Given the description of an element on the screen output the (x, y) to click on. 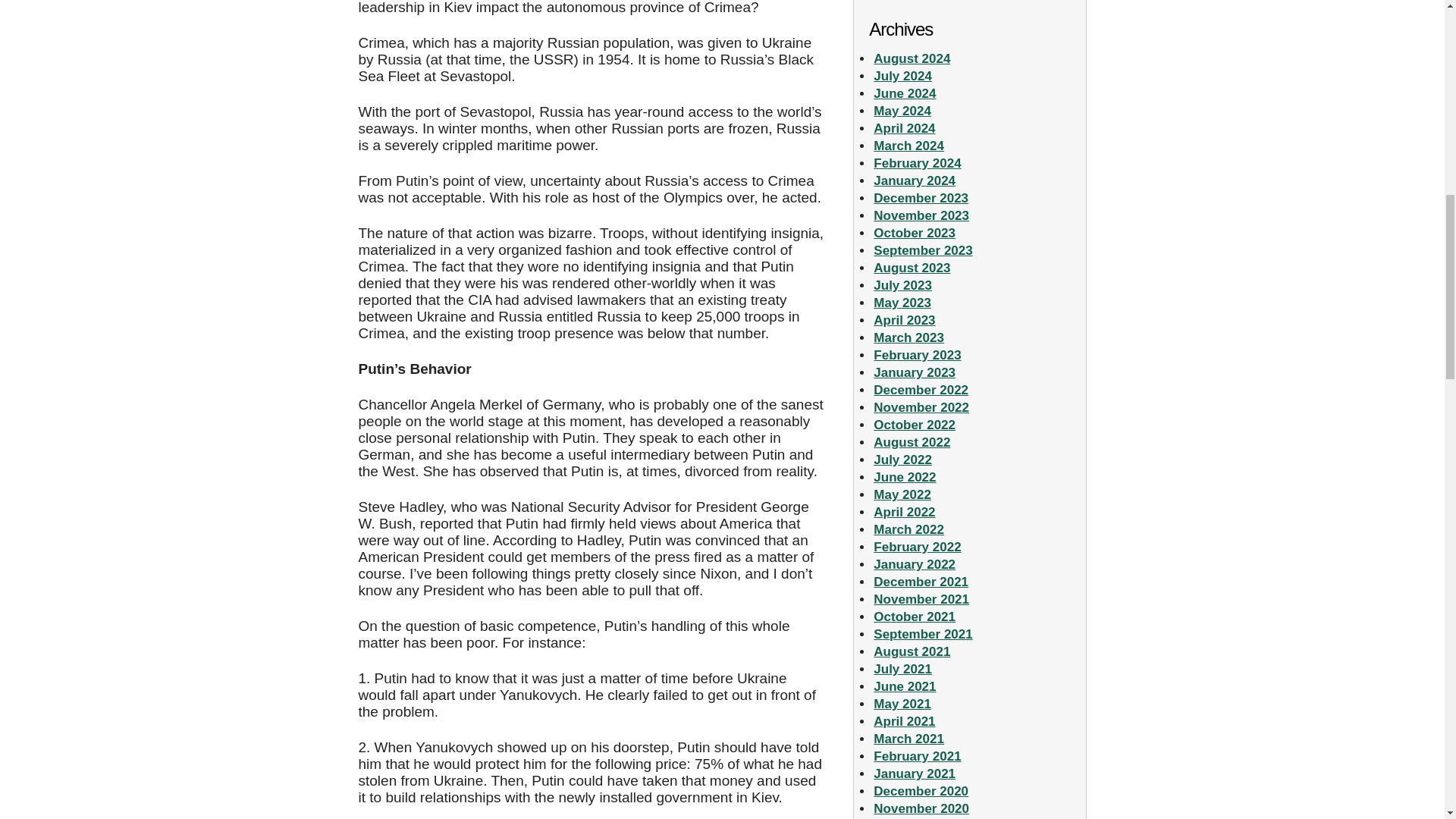
December 2023 (920, 197)
August 2023 (911, 268)
February 2024 (916, 163)
May 2024 (902, 110)
April 2024 (903, 128)
July 2024 (902, 75)
January 2024 (914, 180)
October 2023 (914, 233)
September 2023 (922, 250)
July 2023 (902, 285)
